Given the description of an element on the screen output the (x, y) to click on. 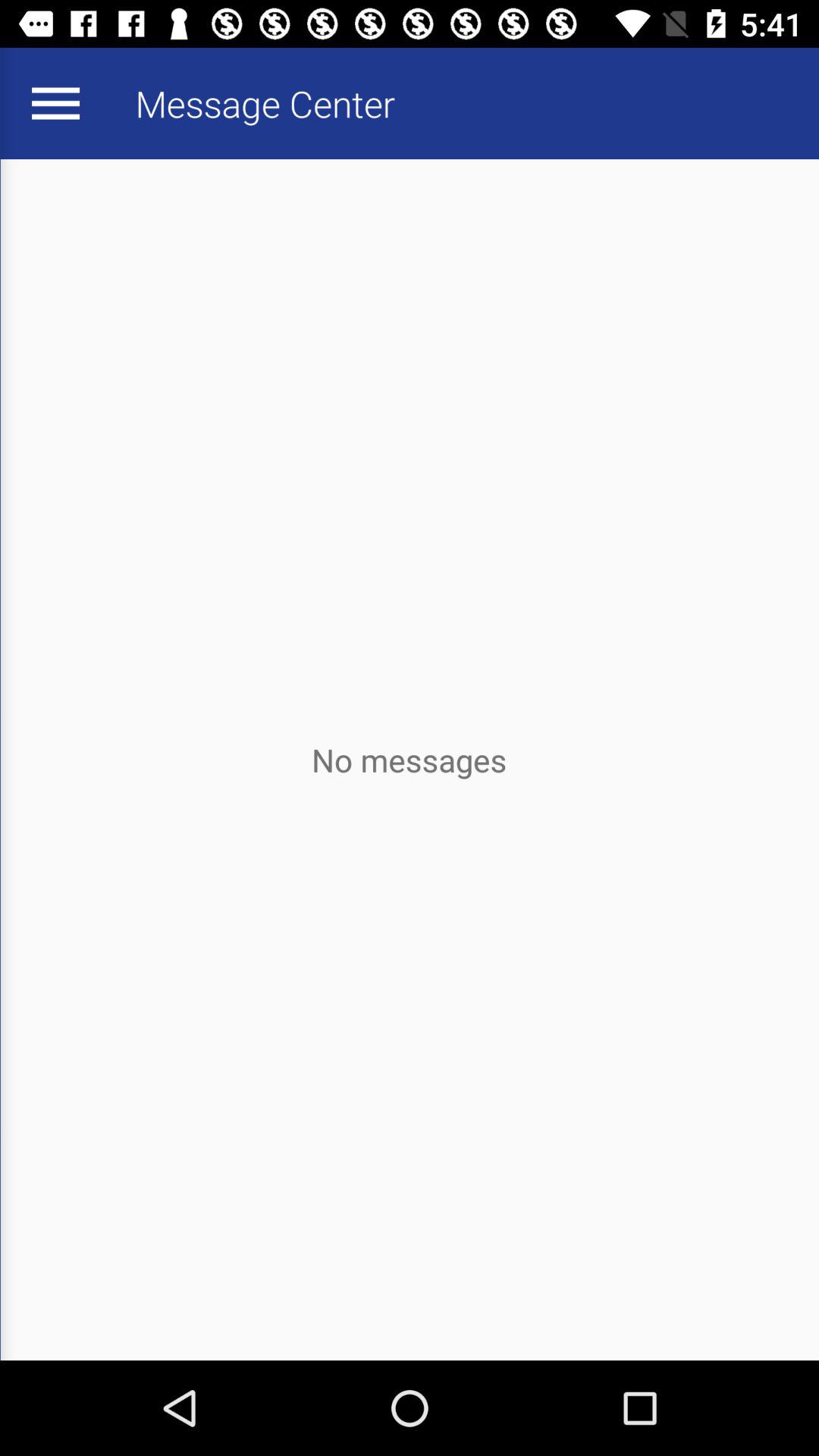
press icon at the top left corner (55, 103)
